Given the description of an element on the screen output the (x, y) to click on. 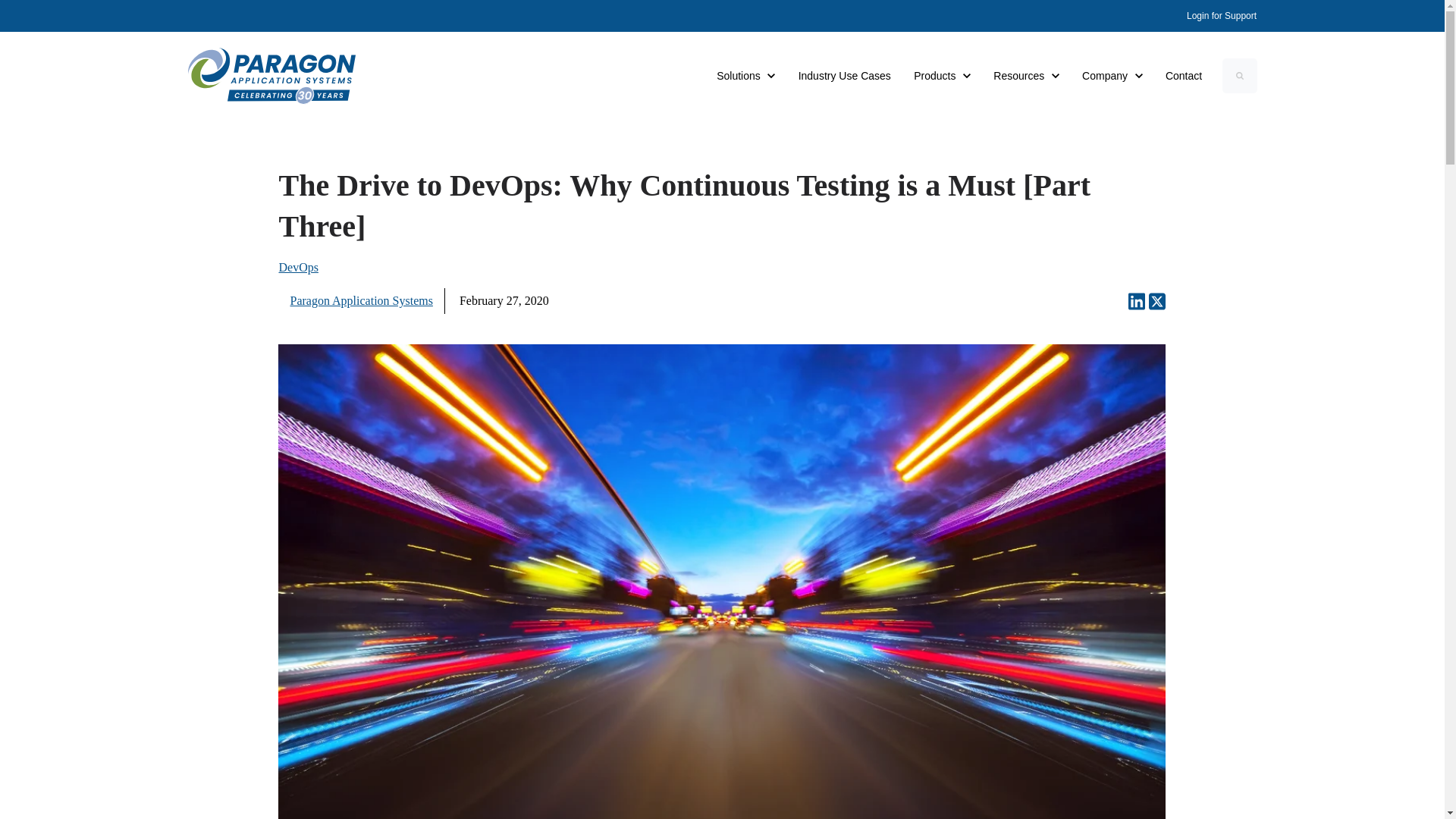
Industry Use Cases (745, 76)
Login for Support (1026, 76)
